Given the description of an element on the screen output the (x, y) to click on. 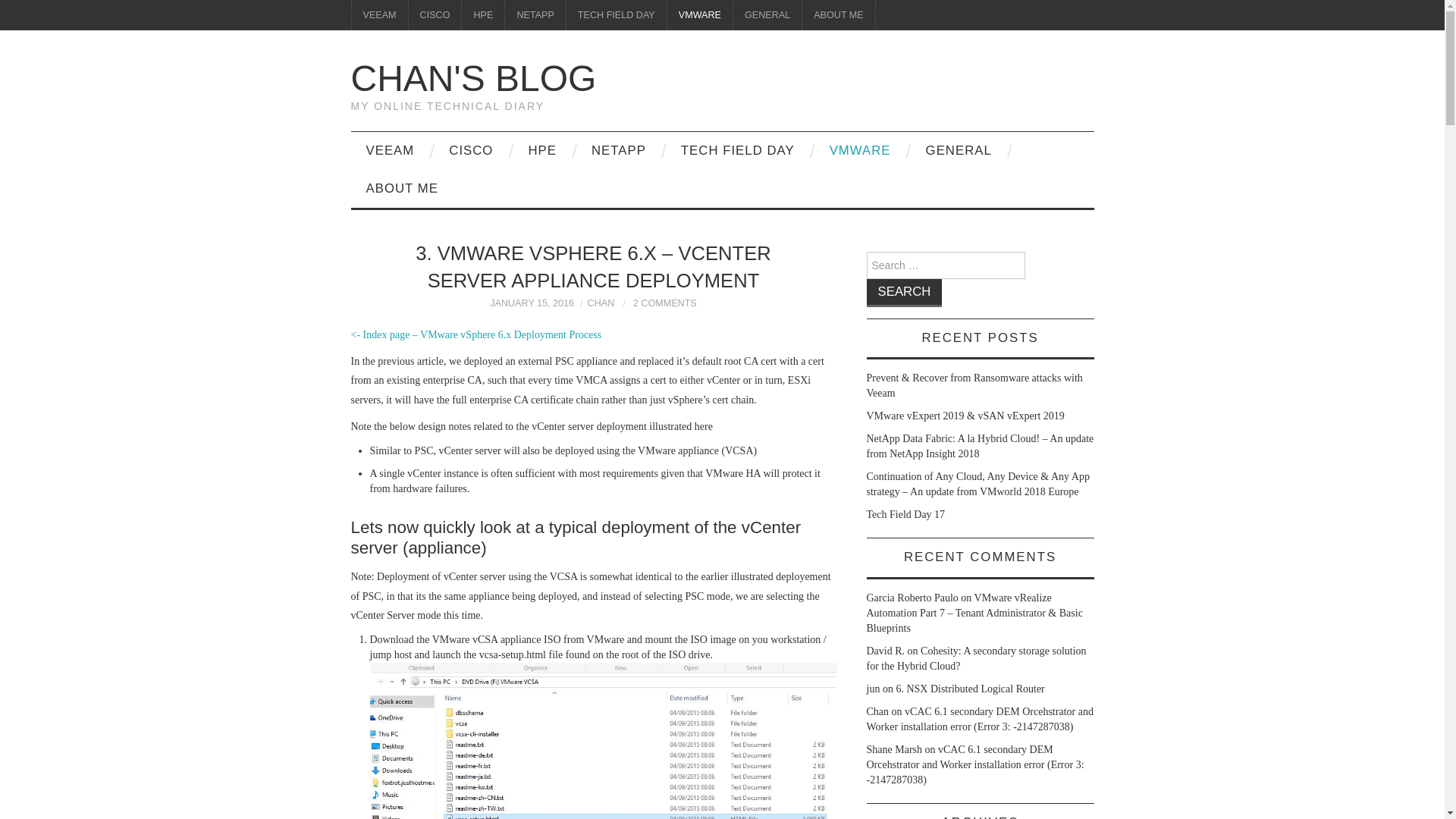
TECH FIELD DAY (616, 15)
Search (904, 293)
CISCO (435, 15)
HPE (482, 15)
VMWARE (699, 15)
Chan's Blog (472, 78)
NETAPP (534, 15)
Search for: (945, 265)
VEEAM (379, 15)
Search (904, 293)
